Given the description of an element on the screen output the (x, y) to click on. 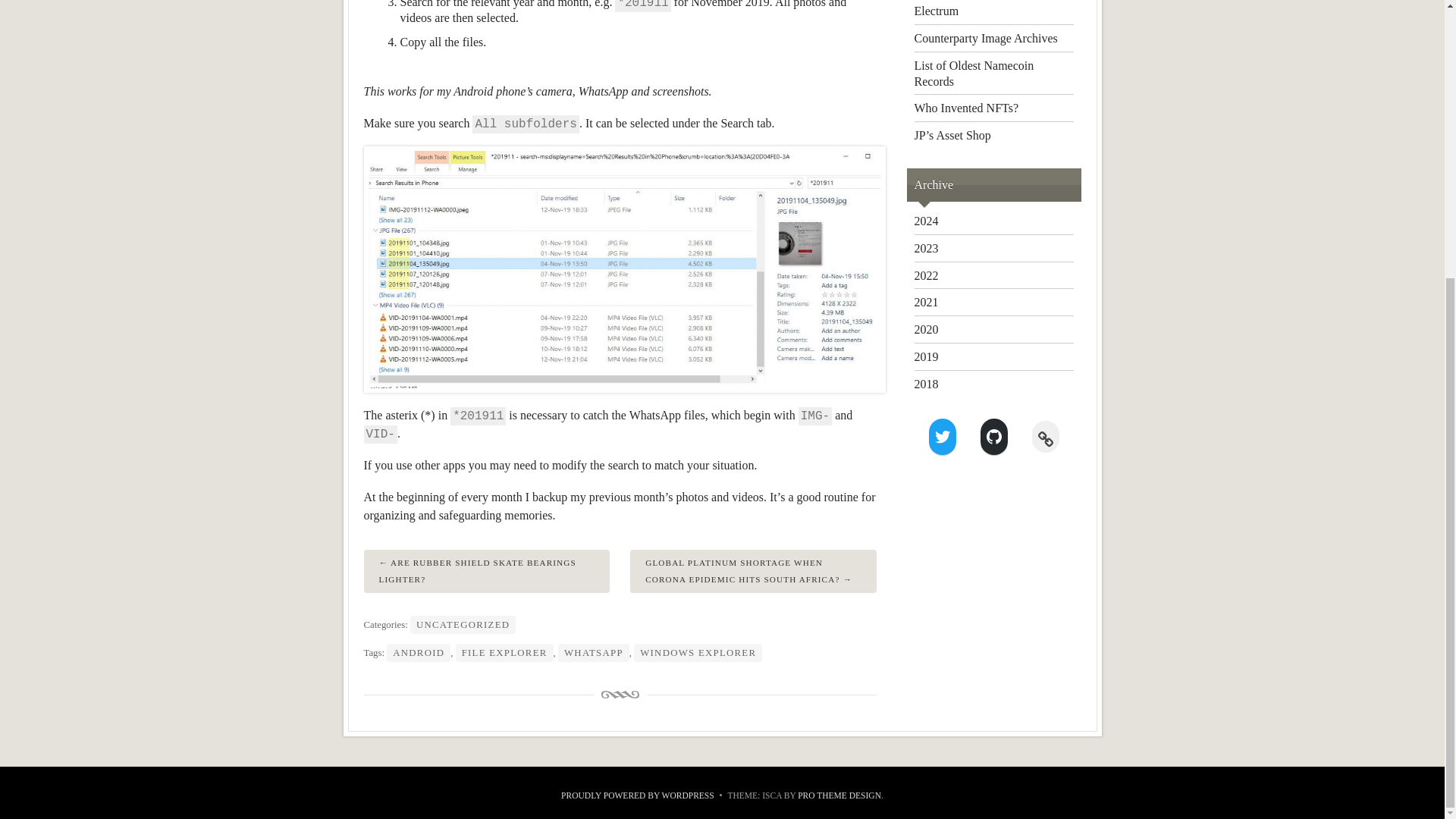
List of Oldest Namecoin Records (973, 72)
2024 (926, 220)
2019 (926, 356)
2020 (926, 328)
OLGA STAMP Minter for Electrum (978, 8)
UNCATEGORIZED (462, 624)
2021 (926, 301)
GitHub (993, 436)
WINDOWS EXPLORER (697, 652)
2022 (926, 275)
